Given the description of an element on the screen output the (x, y) to click on. 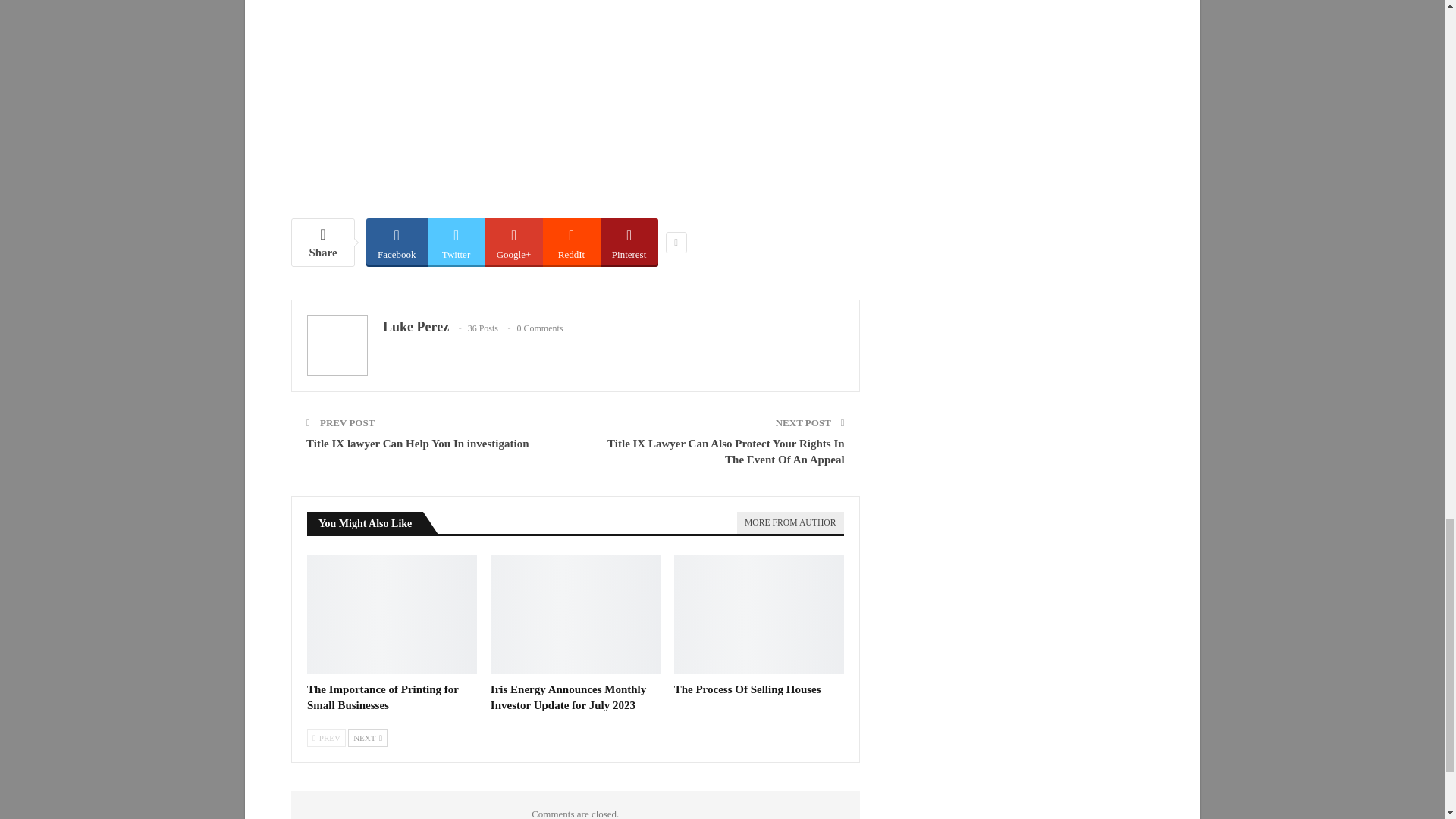
Luke Perez (415, 326)
Facebook (397, 241)
The Importance of Printing for Small Businesses (382, 697)
The Process Of Selling Houses (759, 614)
The Importance of Printing for Small Businesses (392, 614)
Twitter (456, 241)
Iris Energy Announces Monthly Investor Update for July 2023 (568, 697)
Pinterest (628, 241)
Title IX lawyer Can Help You In investigation (417, 443)
ReddIt (571, 241)
The Process Of Selling Houses (747, 689)
Next (367, 737)
Iris Energy Announces Monthly Investor Update for July 2023 (575, 614)
Previous (326, 737)
